Given the description of an element on the screen output the (x, y) to click on. 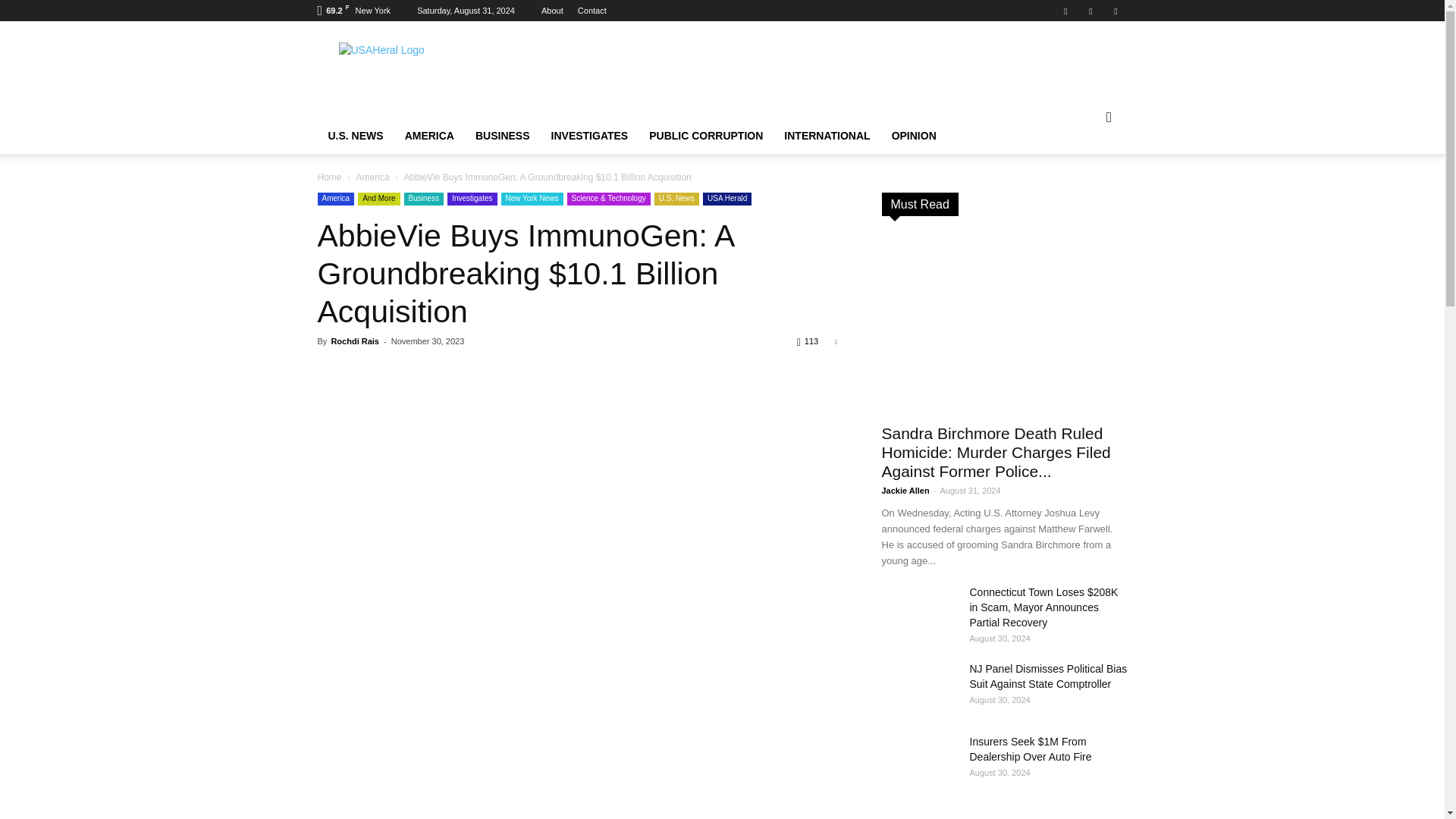
Home (328, 176)
Contact (592, 10)
PUBLIC CORRUPTION (706, 135)
America (335, 198)
Search (1085, 178)
Business (424, 198)
Twitter (1114, 10)
And More (378, 198)
New York News (531, 198)
U.S. NEWS (355, 135)
